Given the description of an element on the screen output the (x, y) to click on. 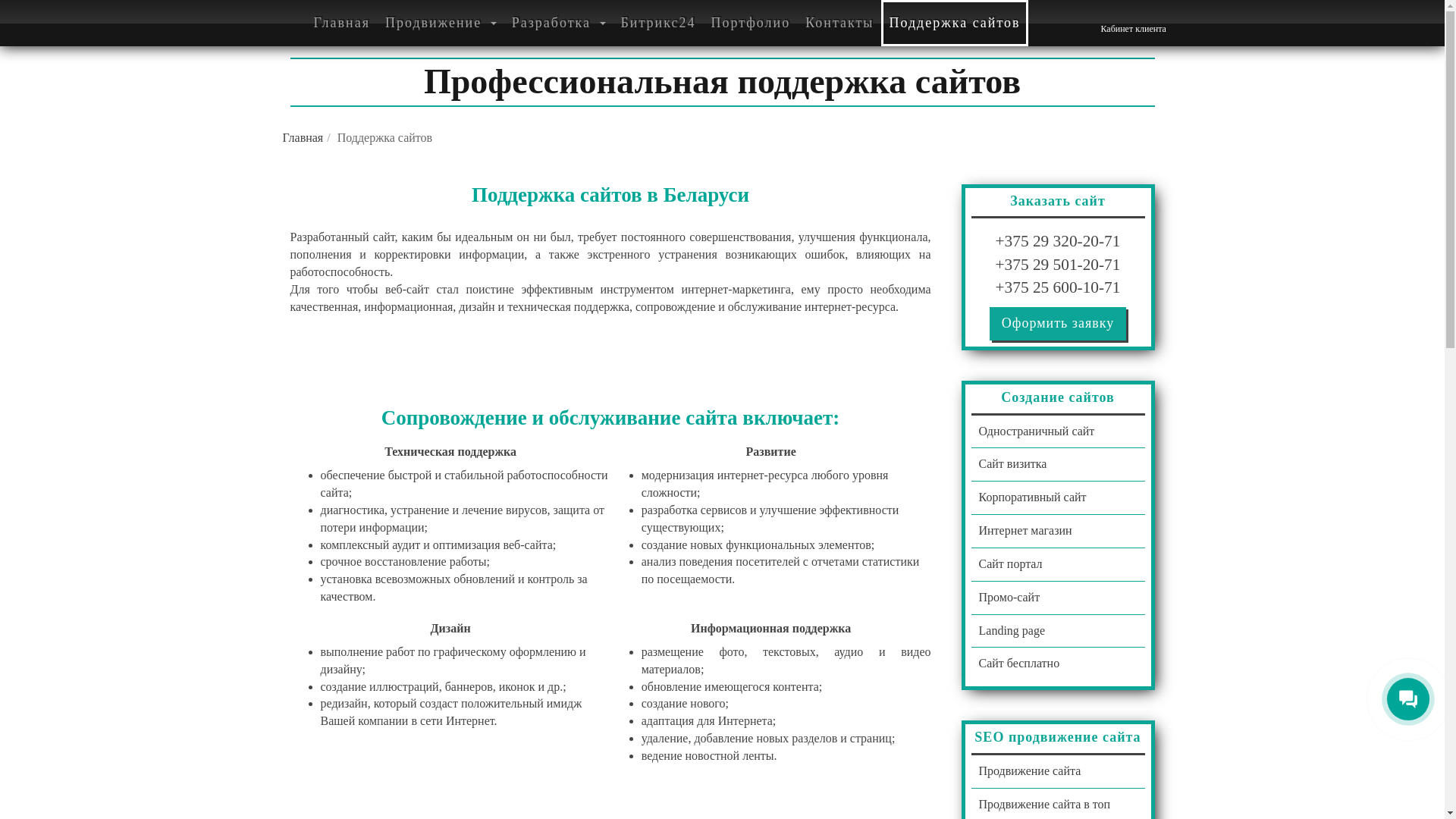
Landing page Element type: text (1057, 631)
